Given the description of an element on the screen output the (x, y) to click on. 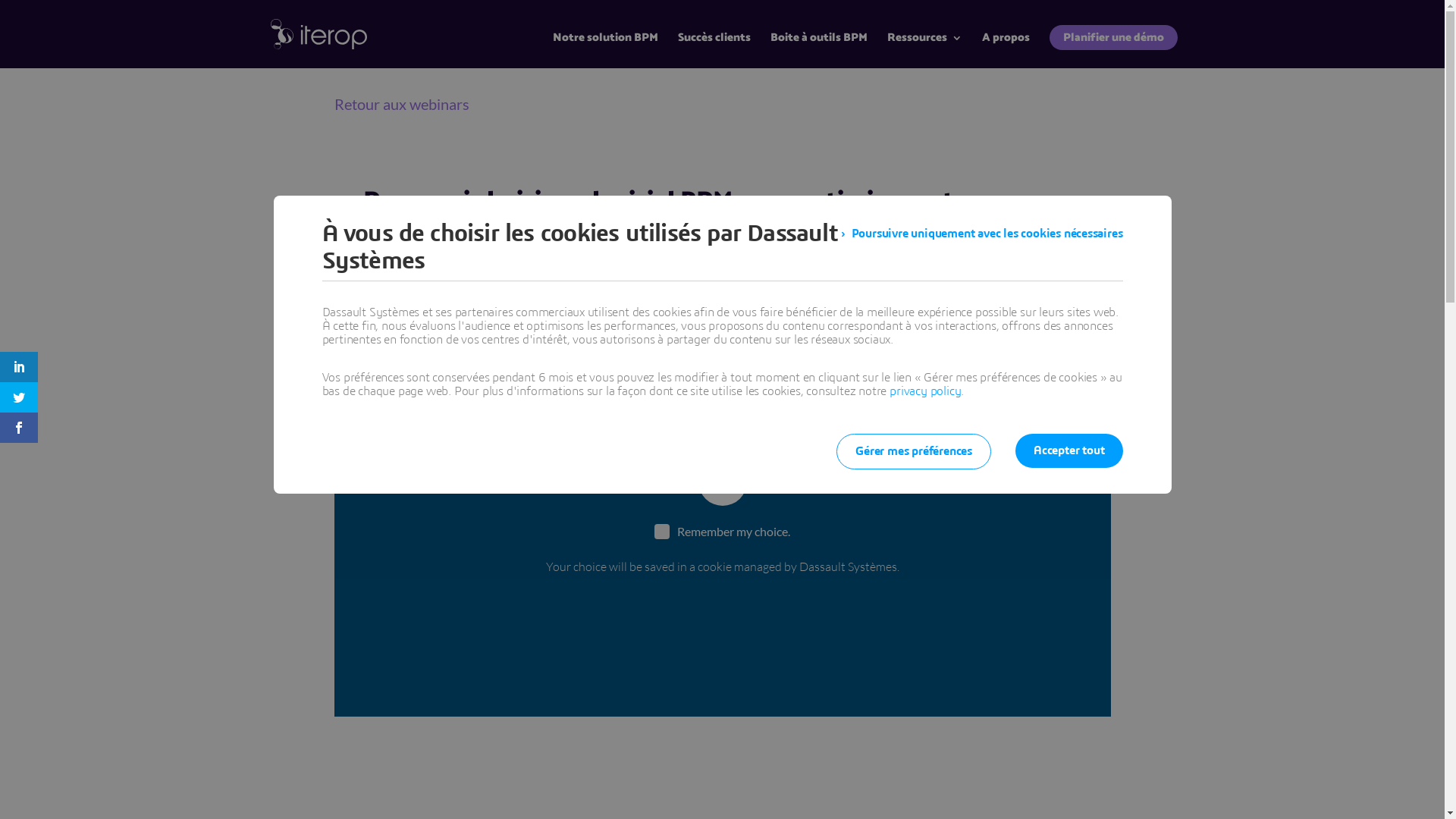
Notre solution BPM Element type: text (604, 50)
Ressources Element type: text (924, 50)
A propos Element type: text (1005, 50)
Accepter tout Element type: text (1068, 450)
Retour aux webinars Element type: text (400, 103)
privacy policy Element type: text (924, 391)
